Given the description of an element on the screen output the (x, y) to click on. 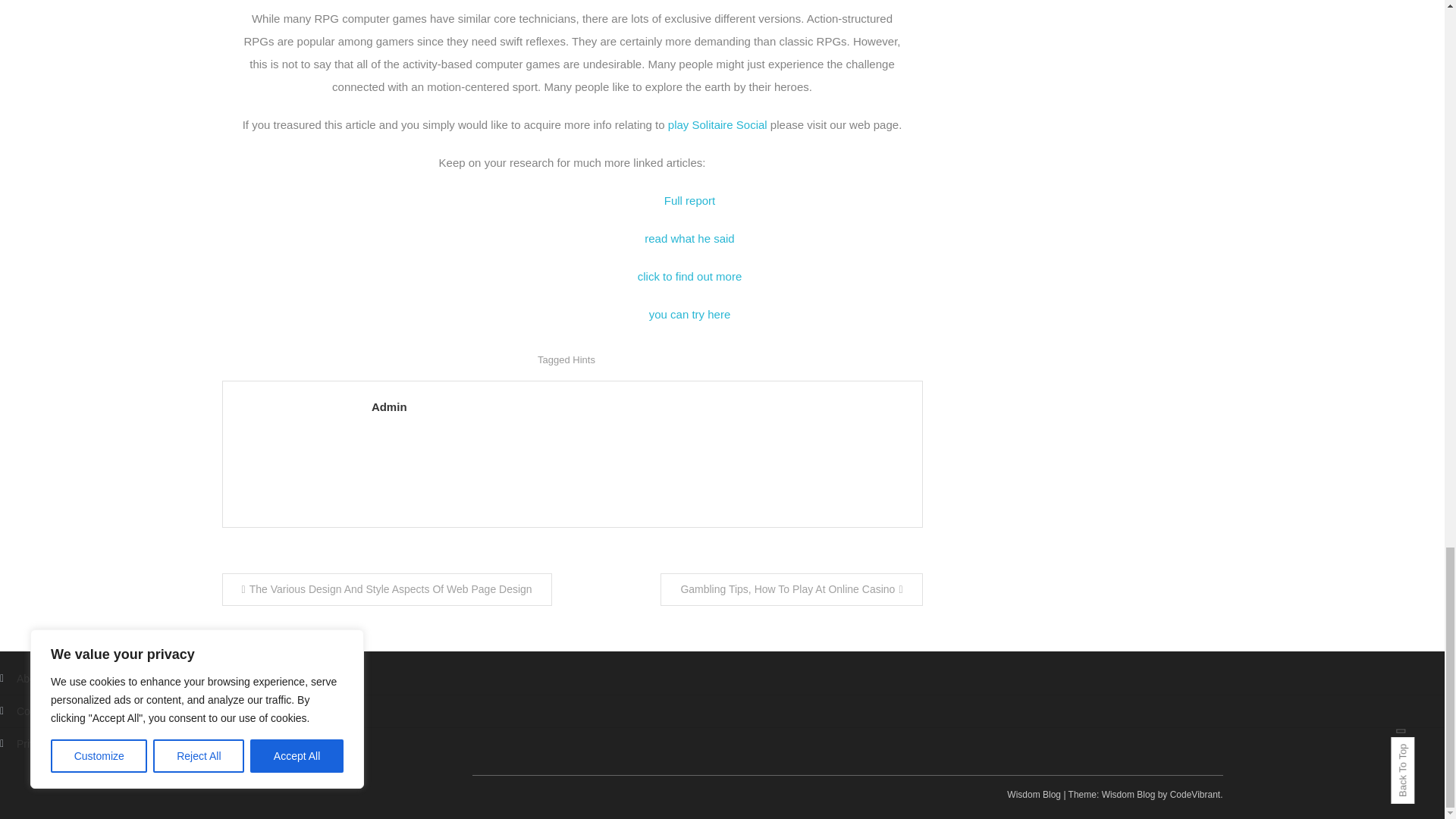
Hints (583, 359)
Gambling Tips, How To Play At Online Casino (791, 589)
read what he said (689, 237)
click to find out more (689, 276)
Full report (689, 200)
Admin (639, 406)
you can try here (689, 314)
play Solitaire Social (717, 124)
The Various Design And Style Aspects Of Web Page Design (386, 589)
